Given the description of an element on the screen output the (x, y) to click on. 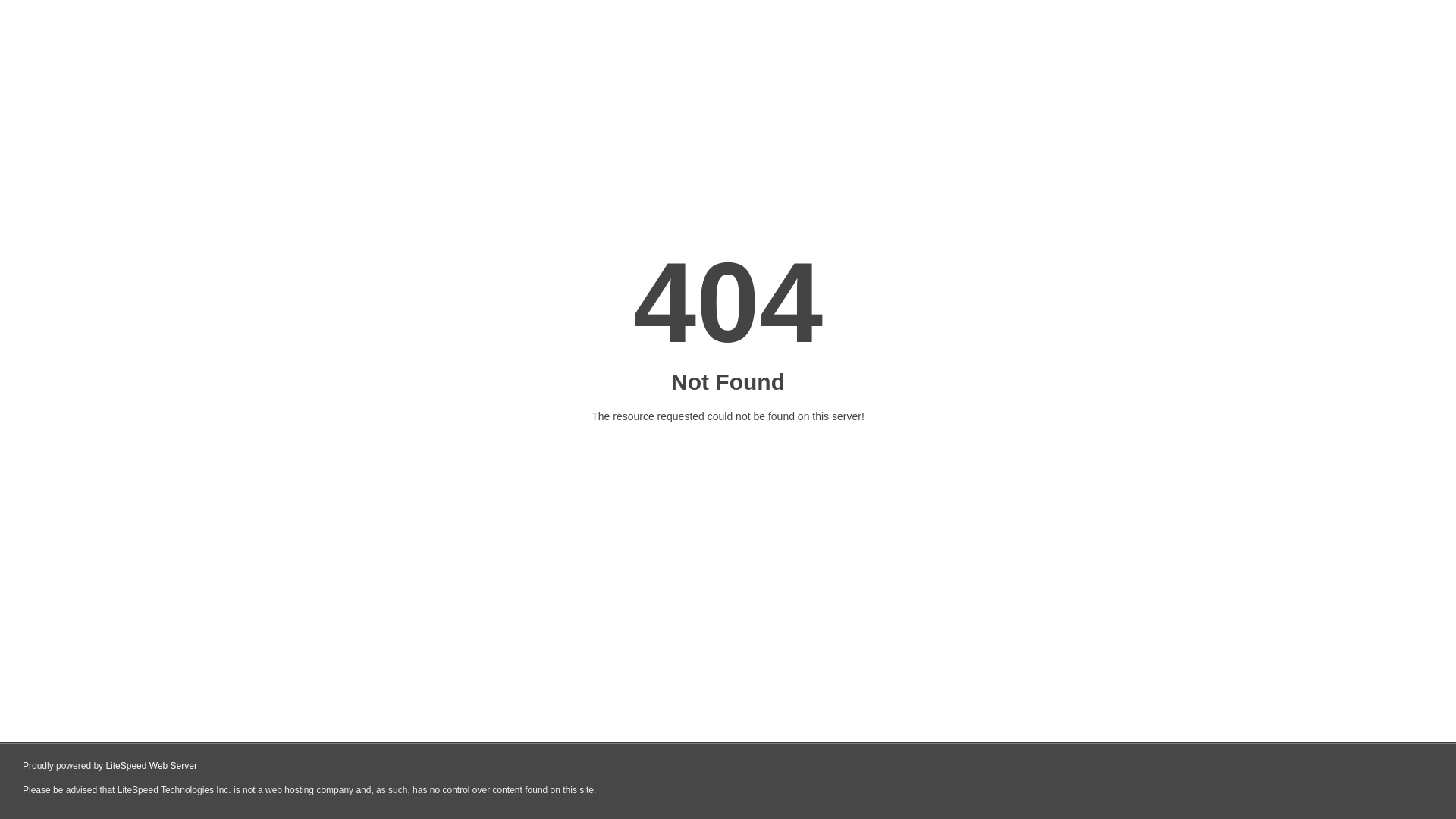
LiteSpeed Web Server Element type: text (151, 765)
